Given the description of an element on the screen output the (x, y) to click on. 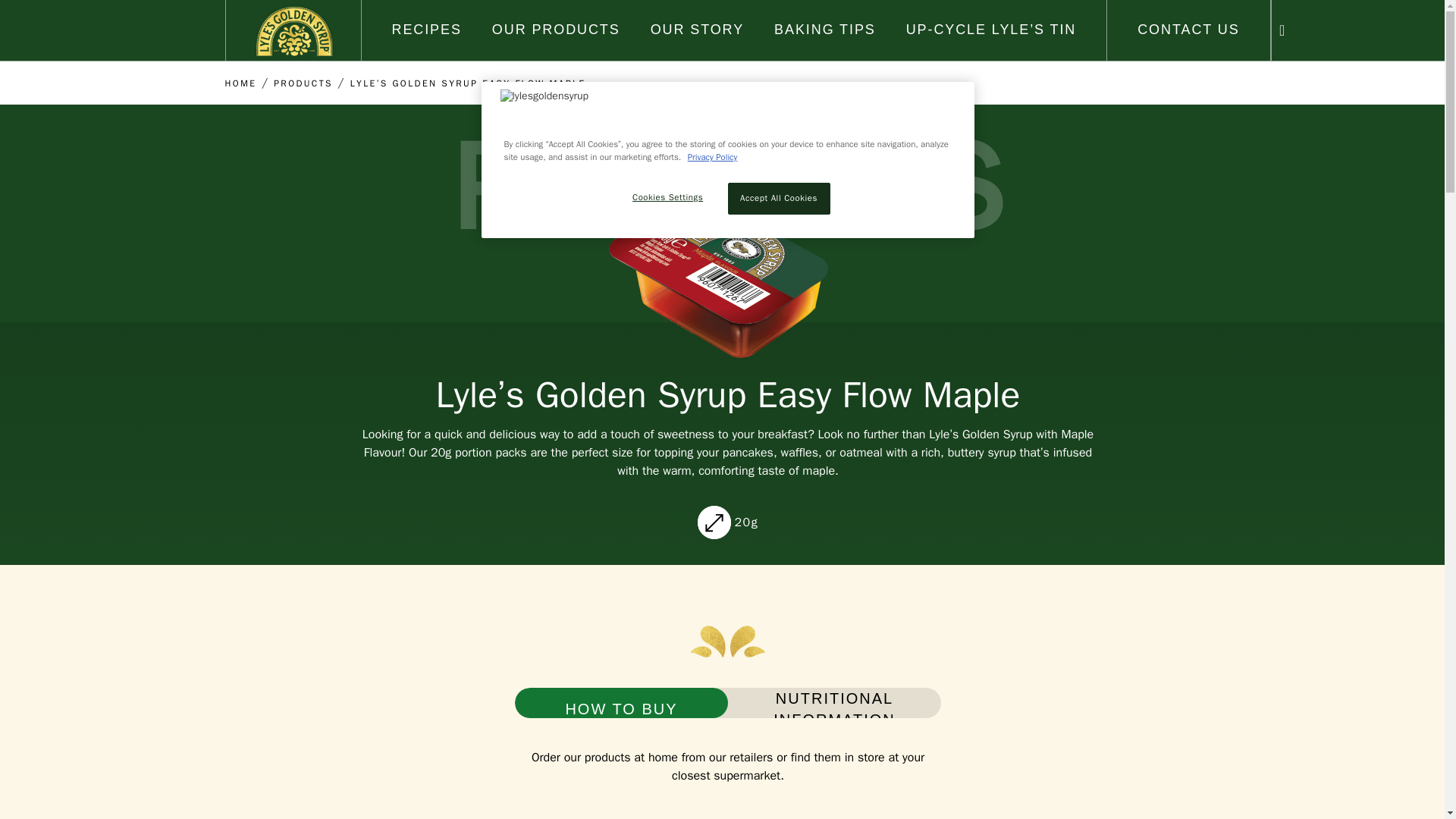
RECIPES (426, 29)
HOME (240, 82)
Recipes (426, 29)
Our Story (697, 29)
OUR PRODUCTS (556, 29)
BAKING TIPS (825, 29)
Our Products (556, 29)
Baking Tips (825, 29)
PRODUCTS (303, 82)
CONTACT US (1188, 29)
